Given the description of an element on the screen output the (x, y) to click on. 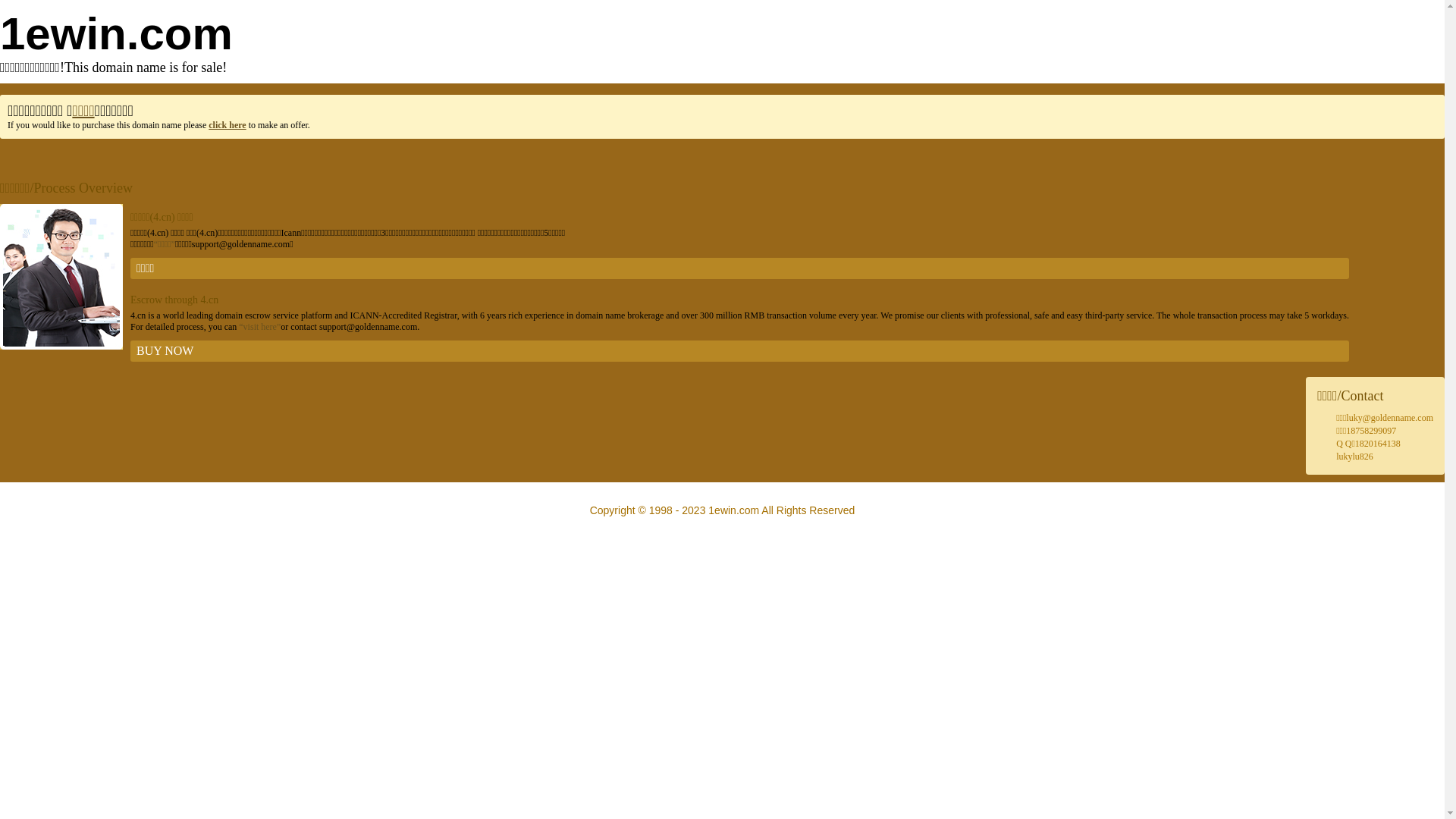
click here Element type: text (226, 124)
BUY NOW Element type: text (739, 350)
